Given the description of an element on the screen output the (x, y) to click on. 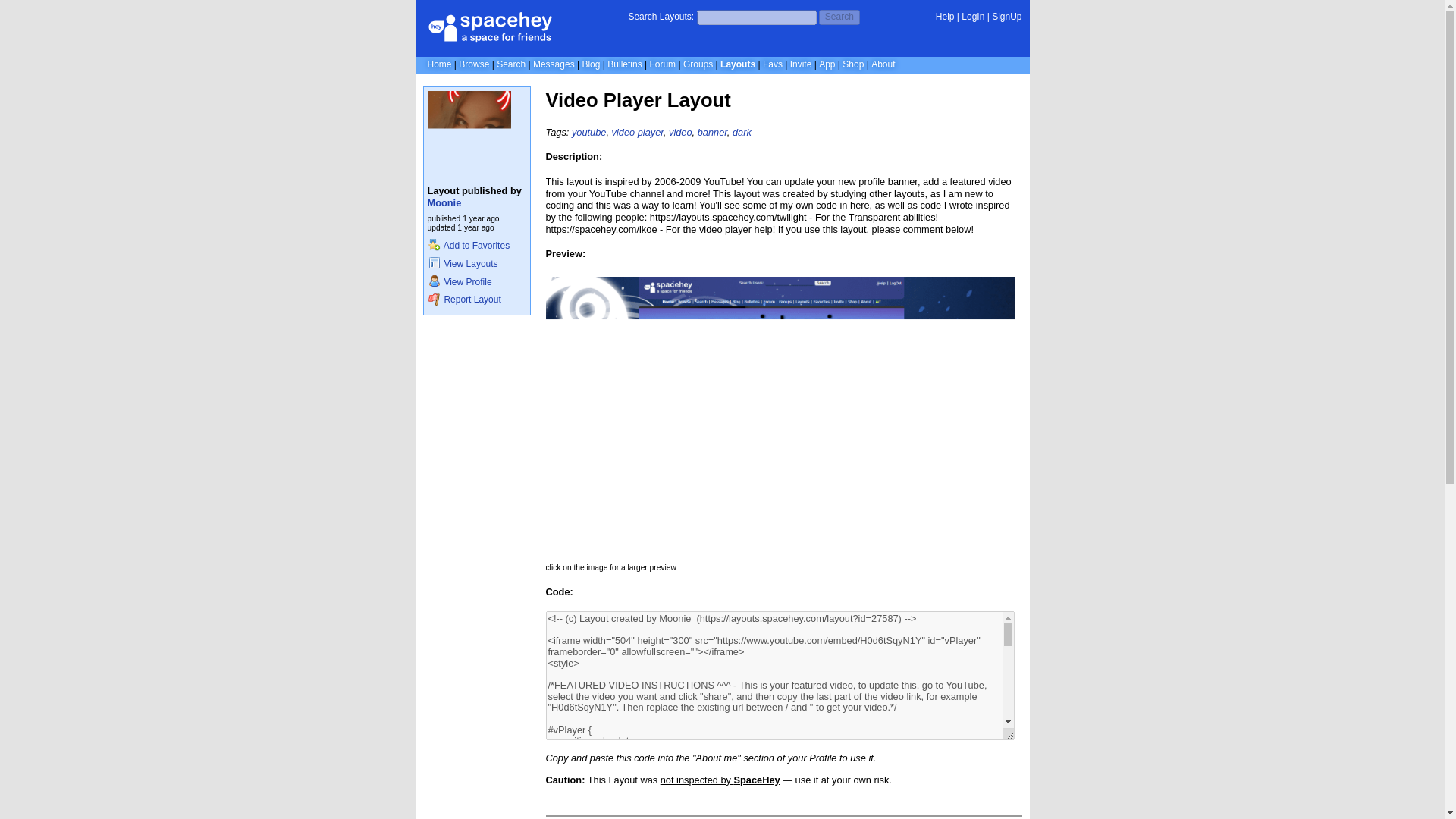
Messages (553, 63)
youtube (589, 132)
Moonie (444, 202)
Add to Favorites (469, 245)
video player (637, 132)
Blog (589, 63)
Home (439, 63)
Shop (853, 63)
banner (711, 132)
Bulletins (624, 63)
